Given the description of an element on the screen output the (x, y) to click on. 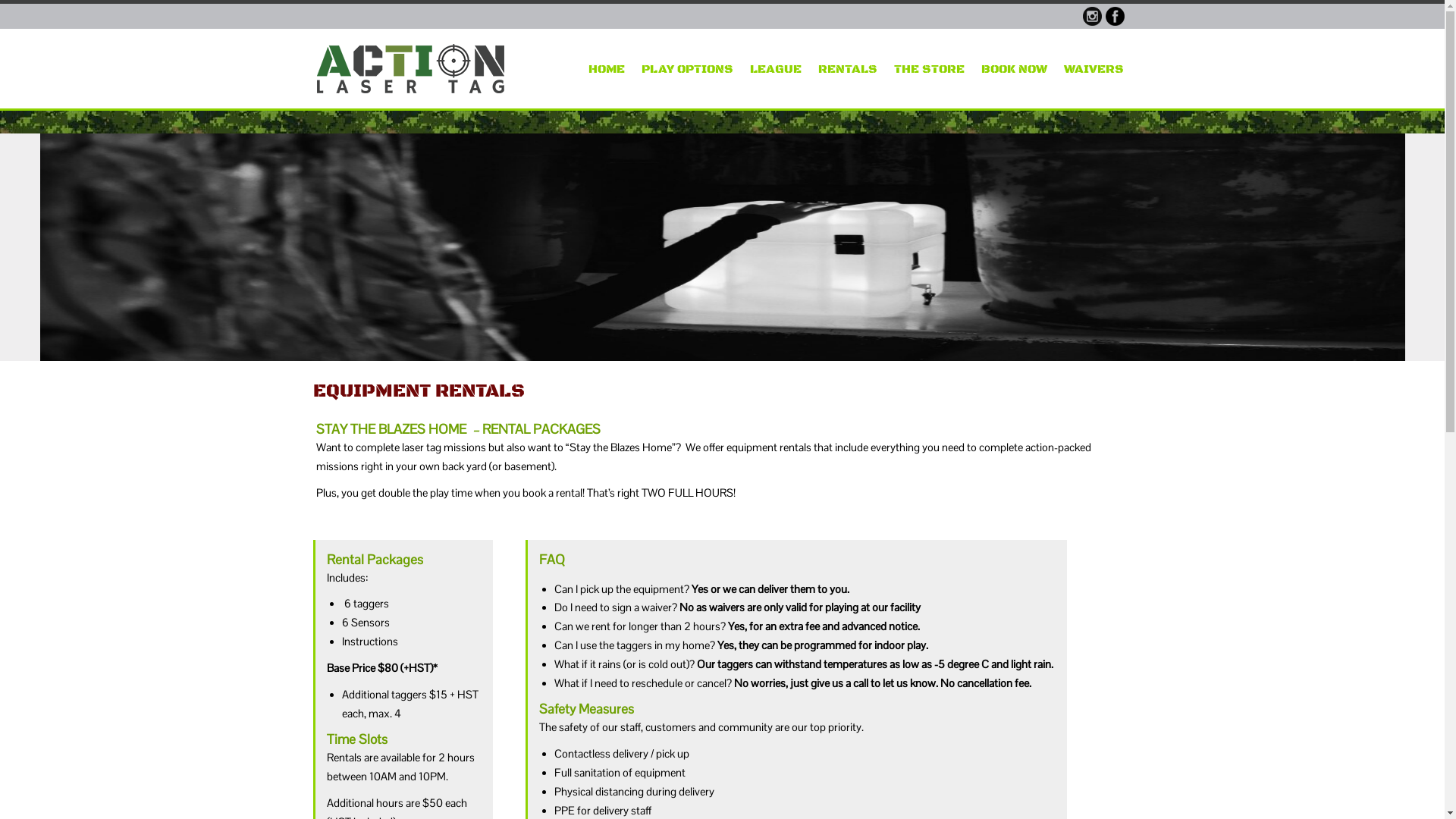
Action Laser Tag Element type: hover (410, 68)
THE STORE Element type: text (928, 68)
HOME Element type: text (606, 68)
LEAGUE Element type: text (774, 68)
Visit our Facebook page! Element type: hover (1114, 15)
RENTALS Element type: text (846, 68)
PLAY OPTIONS Element type: text (686, 68)
BOOK NOW Element type: text (1013, 68)
WAIVERS Element type: text (1092, 68)
Visit us on Instagram! Element type: hover (1091, 15)
